Given the description of an element on the screen output the (x, y) to click on. 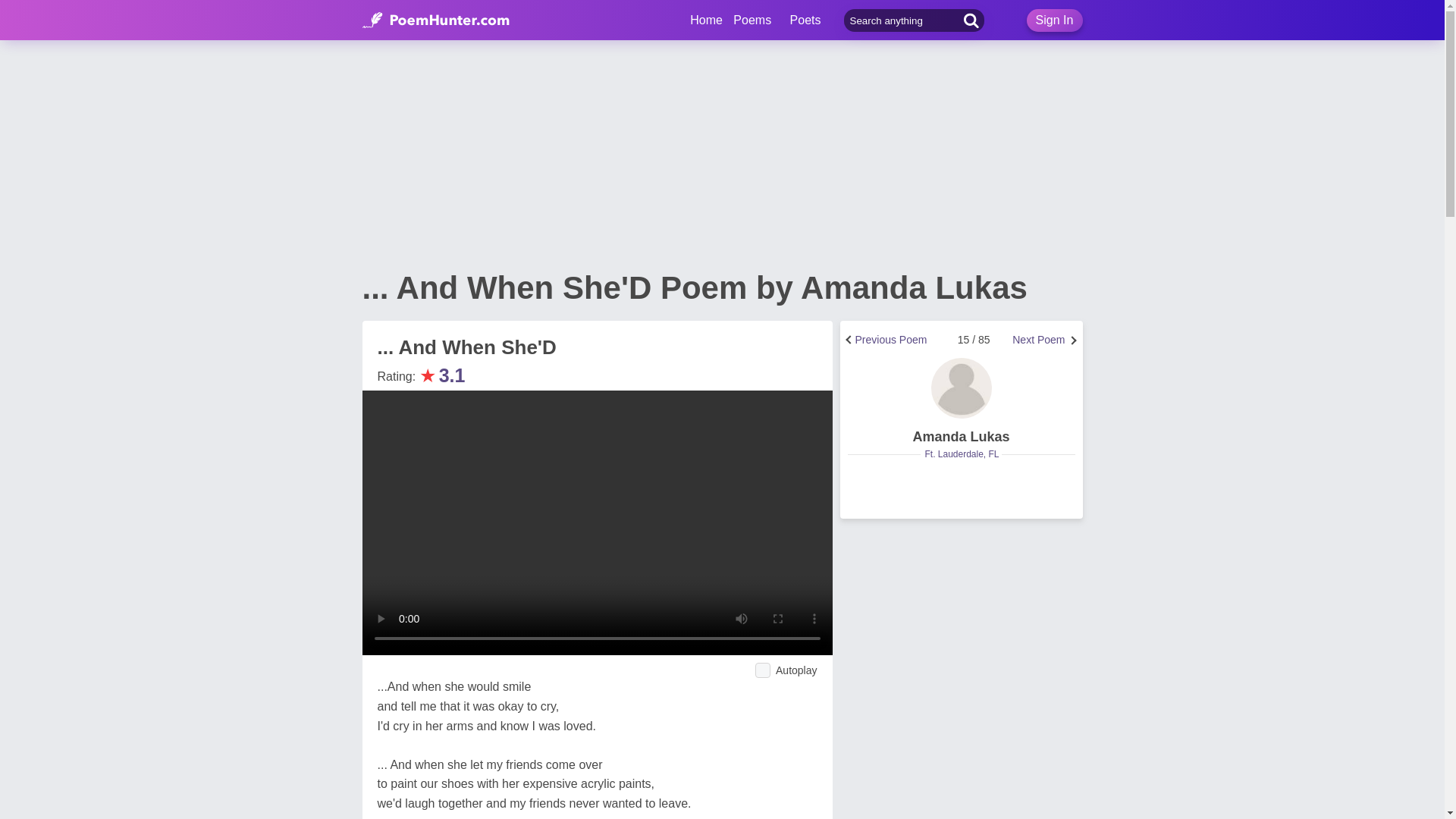
Home (706, 19)
Sign In (1054, 19)
PoemHunter.com: Poems - Poets - Poetry (435, 20)
PoemHunter.com: Poems - Poets - Poetry (706, 19)
